Given the description of an element on the screen output the (x, y) to click on. 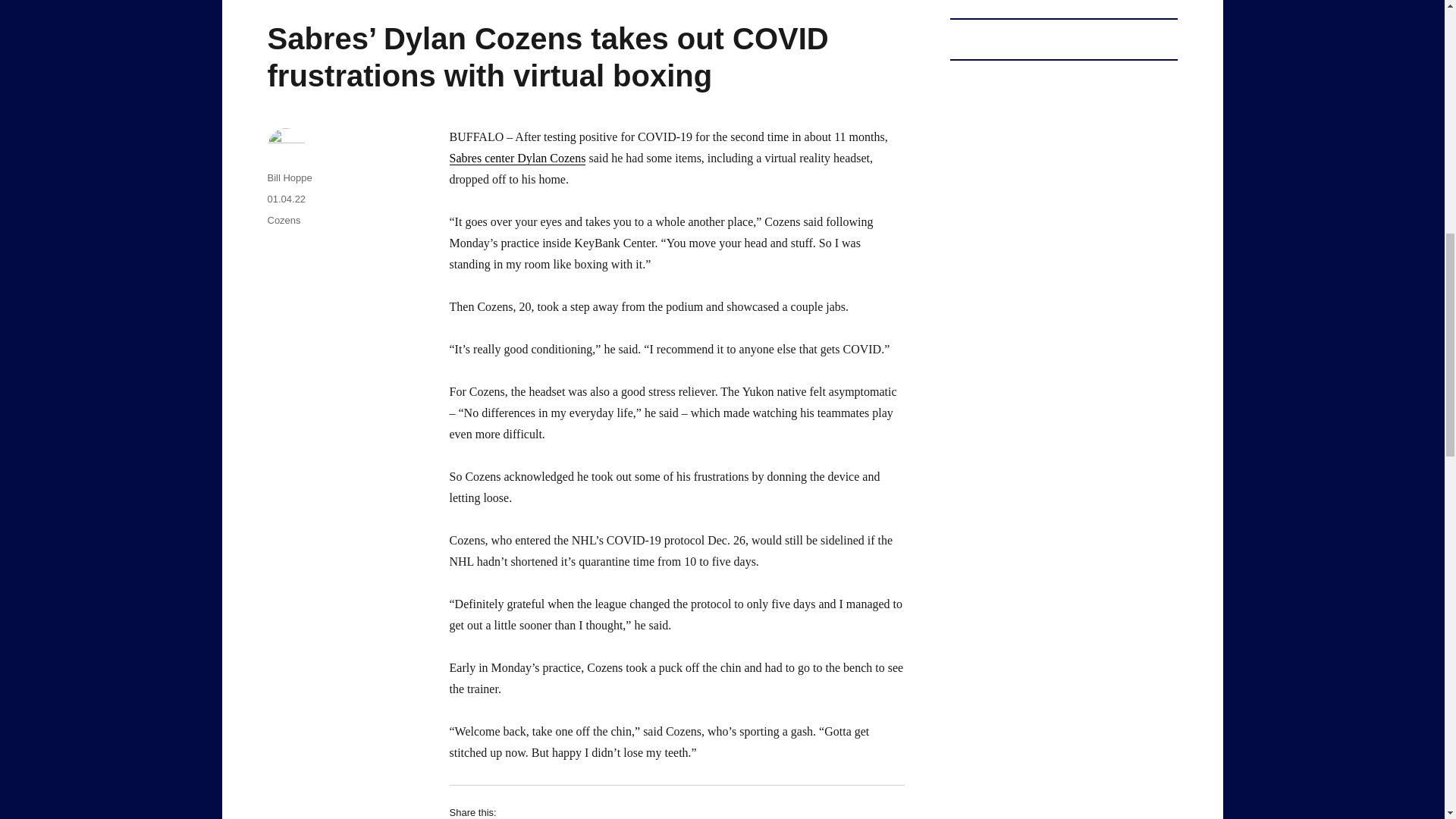
Bill Hoppe (288, 177)
01.04.22 (285, 198)
Cozens (282, 220)
Sabres center Dylan Cozens (516, 157)
